Given the description of an element on the screen output the (x, y) to click on. 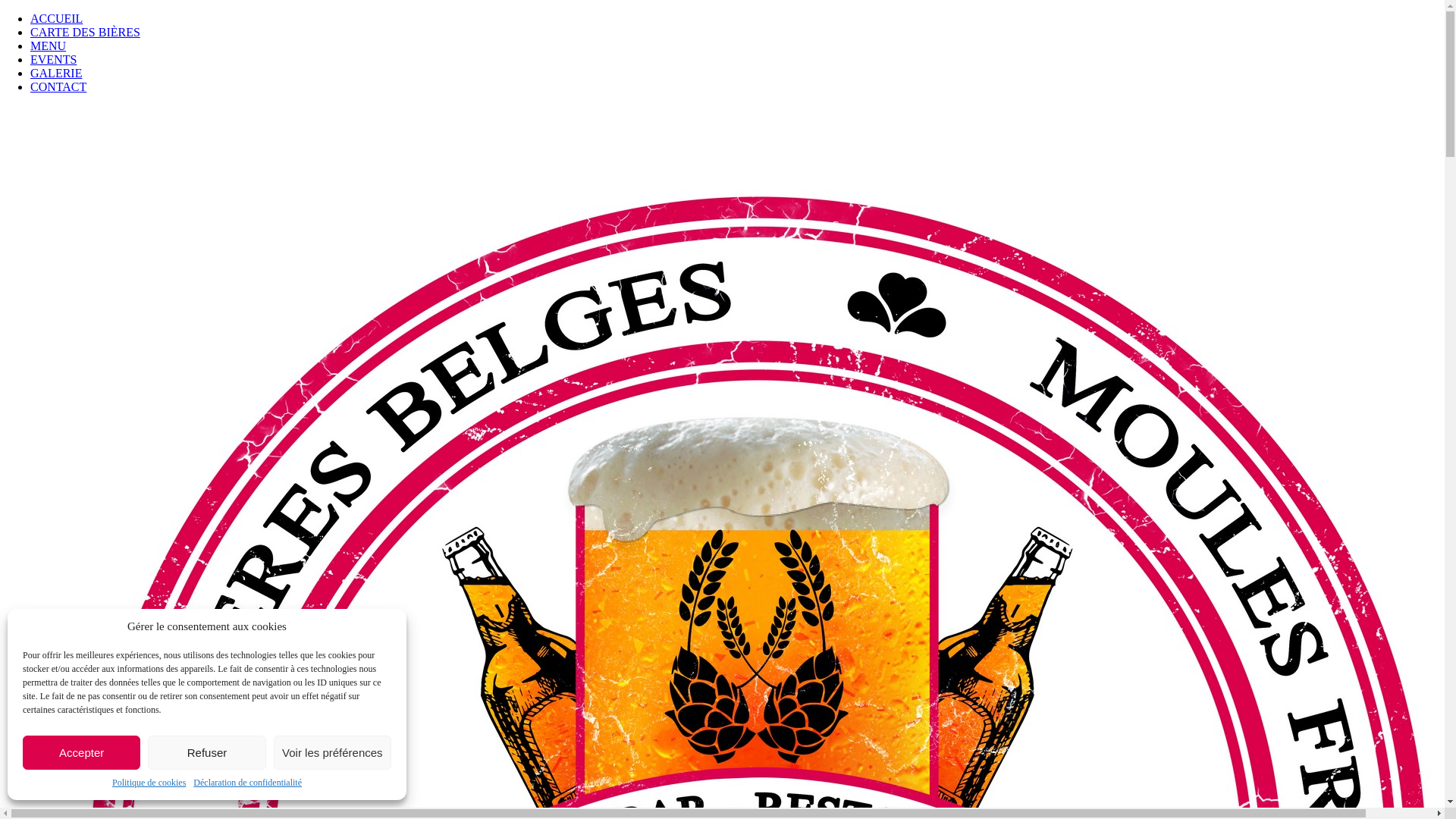
Politique de cookies Element type: text (148, 782)
GALERIE Element type: text (55, 72)
EVENTS Element type: text (53, 59)
ACCUEIL Element type: text (56, 18)
Accepter Element type: text (81, 752)
CONTACT Element type: text (58, 86)
Refuser Element type: text (206, 752)
MENU Element type: text (47, 45)
